Given the description of an element on the screen output the (x, y) to click on. 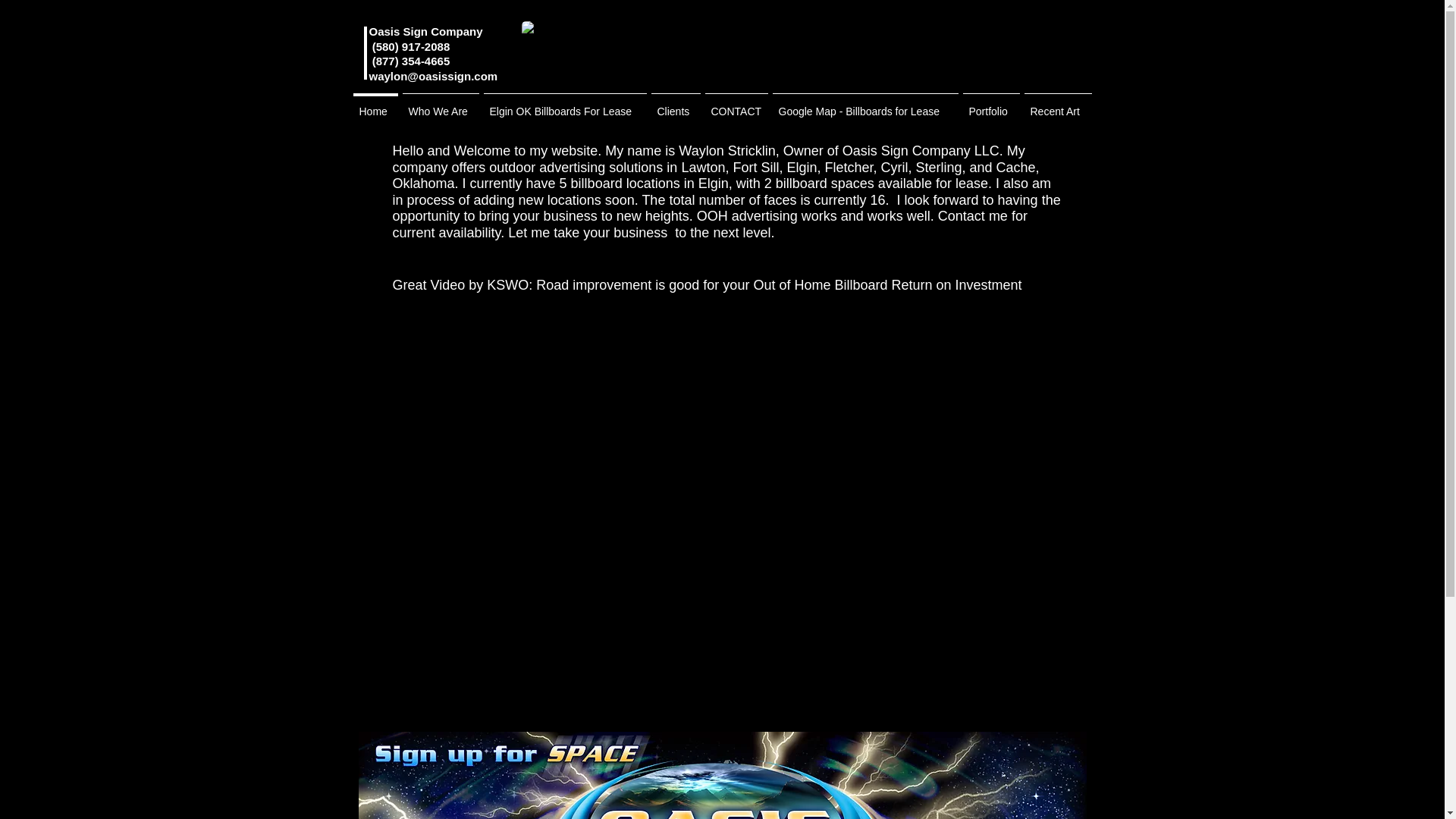
Google Map - Billboards for Lease (865, 104)
CONTACT (735, 104)
Home (374, 104)
Oasis Sign Company (424, 31)
Who We Are (440, 104)
Portfolio (990, 104)
Recent Art (1058, 104)
Clients (676, 104)
Elgin OK Billboards For Lease (563, 104)
